Given the description of an element on the screen output the (x, y) to click on. 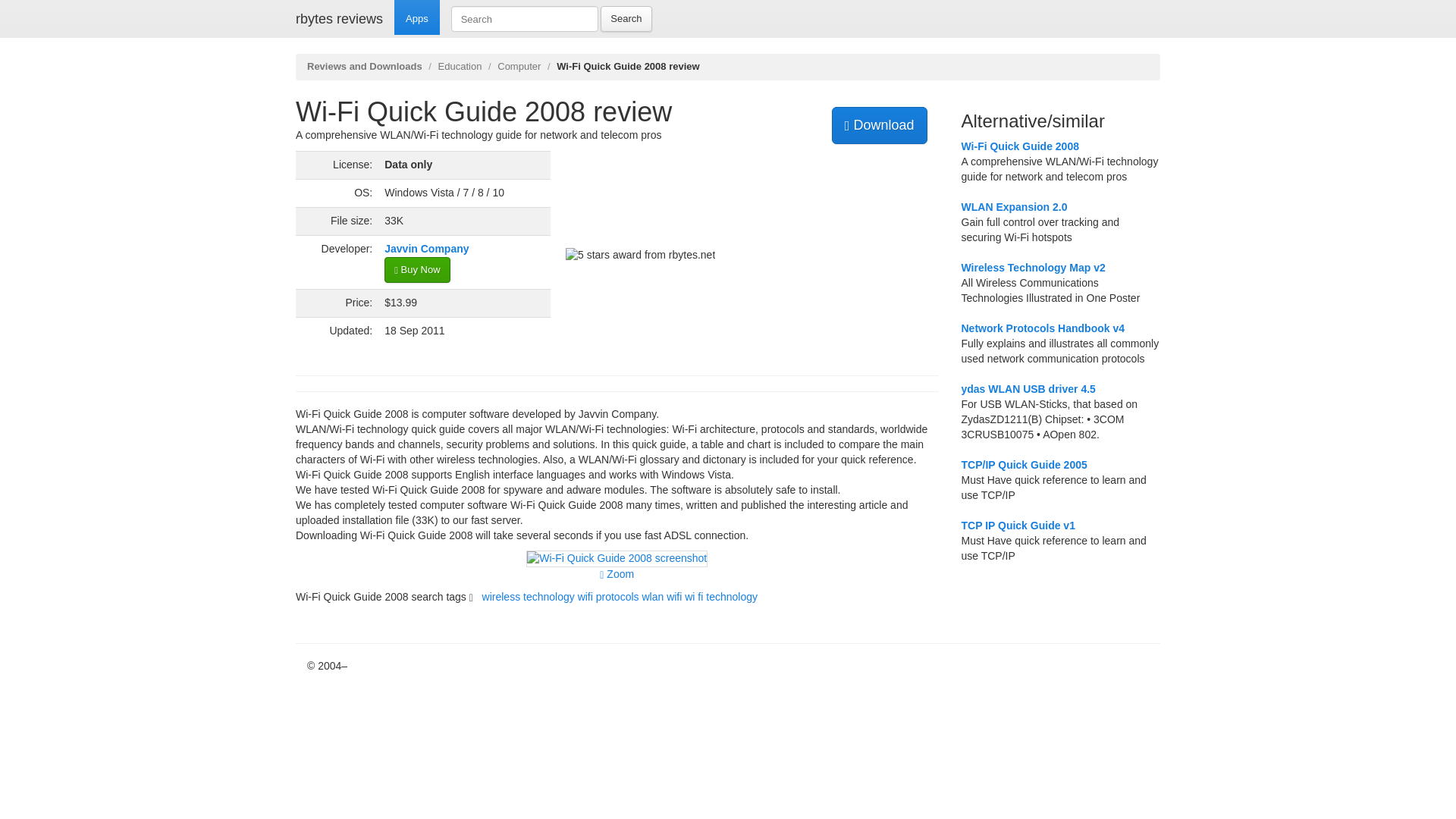
Purchase Wi-Fi Quick Guide (416, 269)
Download (879, 125)
Wi-Fi Quick Guide 2008 review (1019, 146)
Zoom (616, 565)
rbytes reviews (338, 18)
wlan (652, 596)
wifi protocols (608, 596)
Network Protocols Handbook v4 review (1042, 328)
TCP IP Quick Guide v1 (1017, 525)
wireless technology (528, 596)
